Given the description of an element on the screen output the (x, y) to click on. 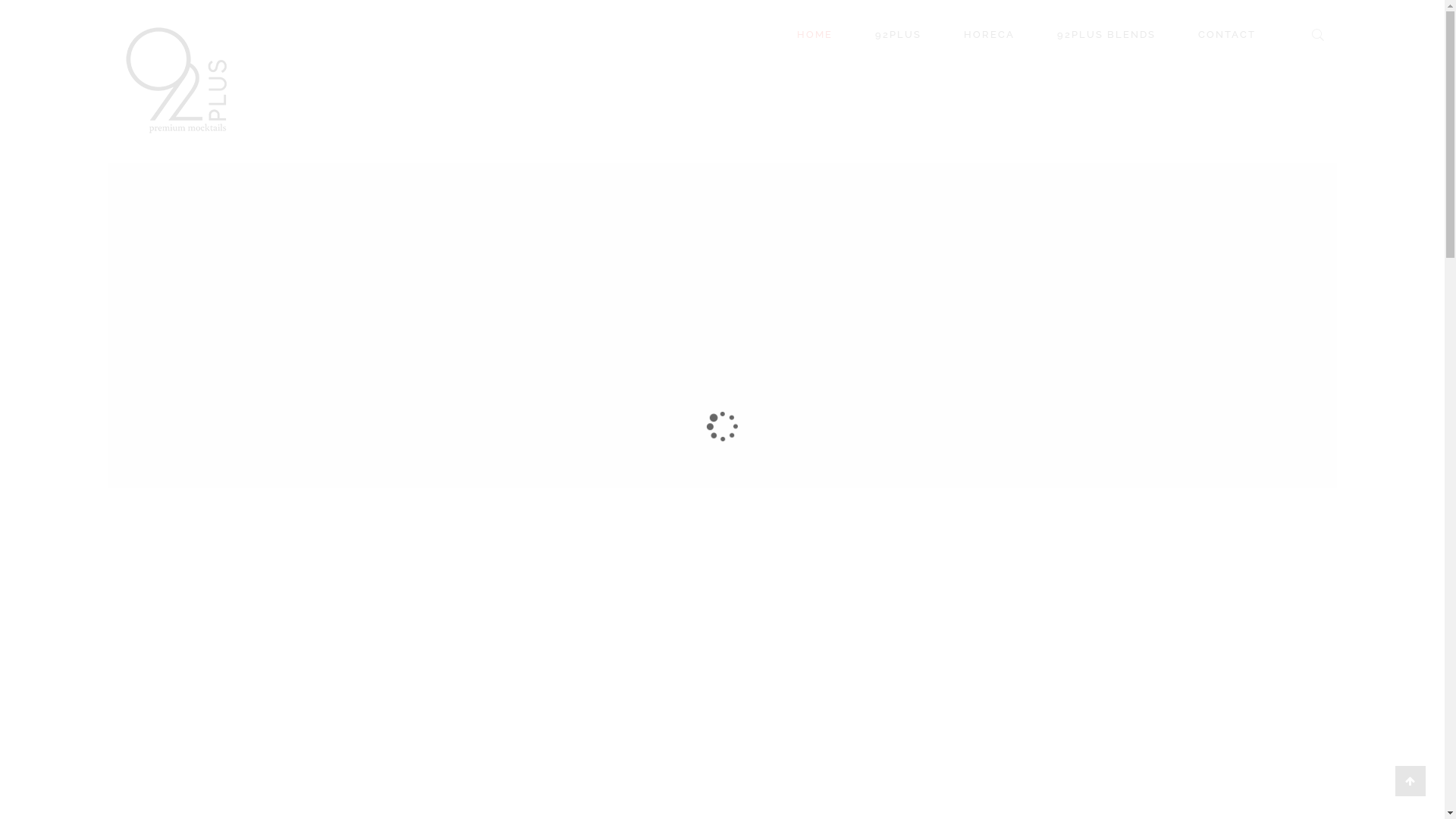
92PLUS Element type: text (898, 34)
92PLUS BLENDS Element type: text (1106, 34)
HORECA Element type: text (988, 34)
HOME Element type: text (814, 34)
CONTACT Element type: text (1236, 34)
